Given the description of an element on the screen output the (x, y) to click on. 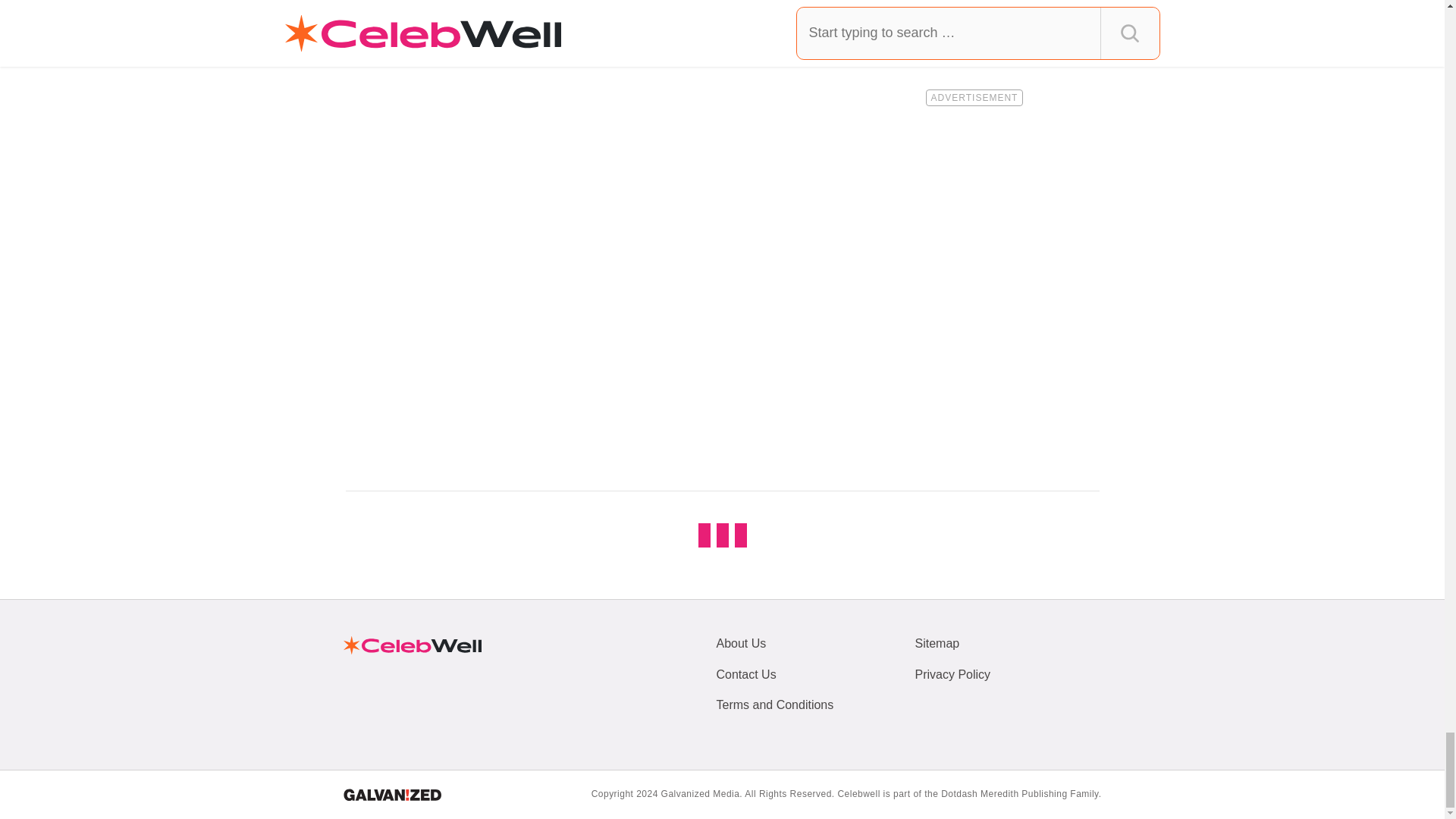
Homepage of Celebwell (411, 644)
Galvanized Media Logo (391, 794)
